Given the description of an element on the screen output the (x, y) to click on. 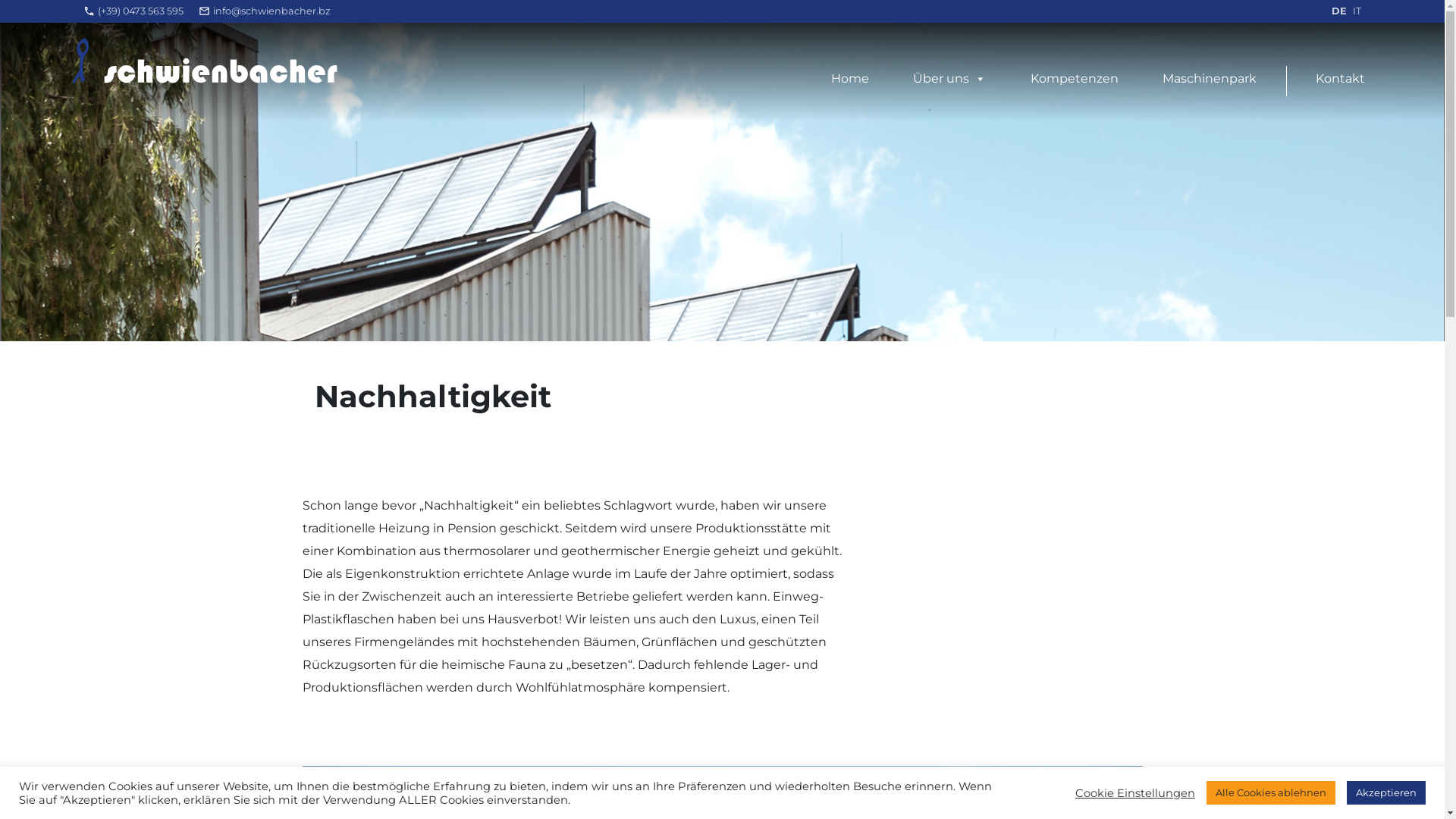
Kontakt Element type: text (1340, 78)
DE Element type: text (1338, 10)
Alle Cookies ablehnen Element type: text (1270, 792)
Maschinenpark Element type: text (1209, 78)
Akzeptieren Element type: text (1385, 792)
(+39) 0473 563 595 Element type: text (140, 10)
info@schwienbacher.bz Element type: text (271, 10)
Cookie Einstellungen Element type: text (1135, 792)
Home Element type: text (849, 78)
Logo schwienbacher light Element type: hover (204, 60)
IT Element type: text (1356, 10)
Kompetenzen Element type: text (1074, 78)
